Given the description of an element on the screen output the (x, y) to click on. 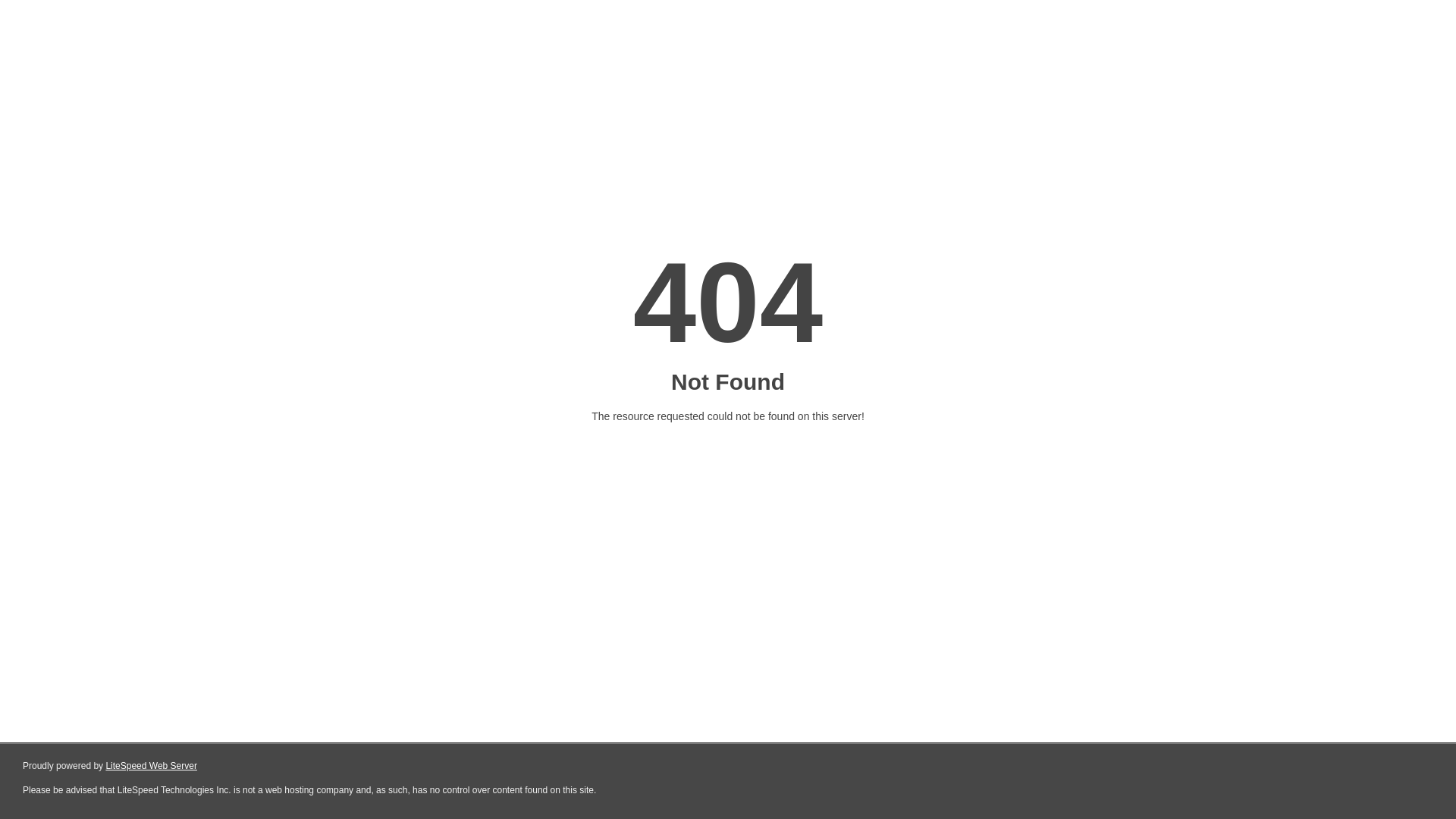
LiteSpeed Web Server Element type: text (151, 765)
